Given the description of an element on the screen output the (x, y) to click on. 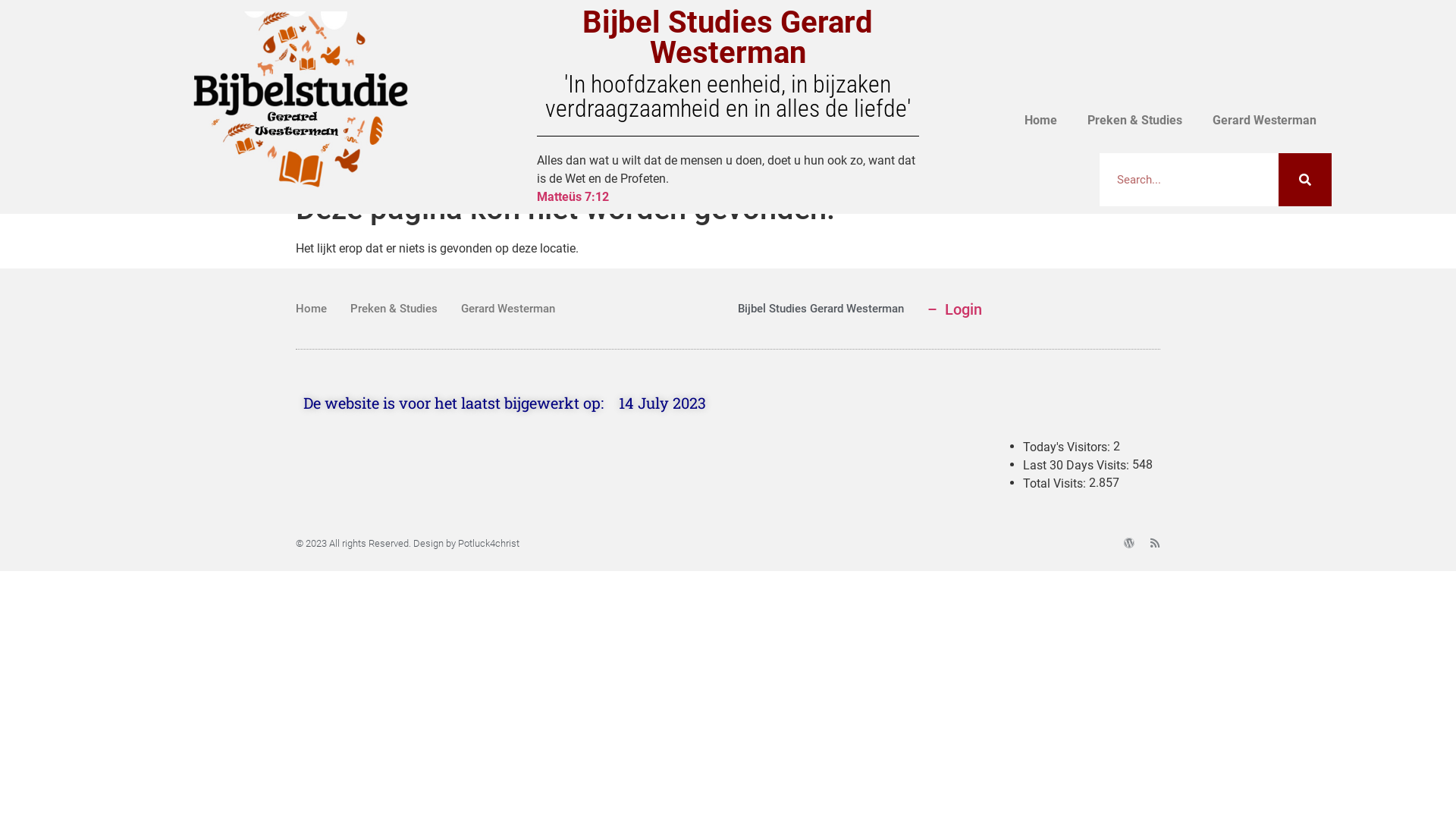
Gerard Westerman Element type: text (508, 308)
Preken & Studies Element type: text (1134, 120)
Gerard Westerman Element type: text (1264, 120)
Preken & Studies Element type: text (393, 308)
Bijbel Studies Gerard Westerman Element type: text (727, 37)
Home Element type: text (310, 308)
Home Element type: text (1040, 120)
